Given the description of an element on the screen output the (x, y) to click on. 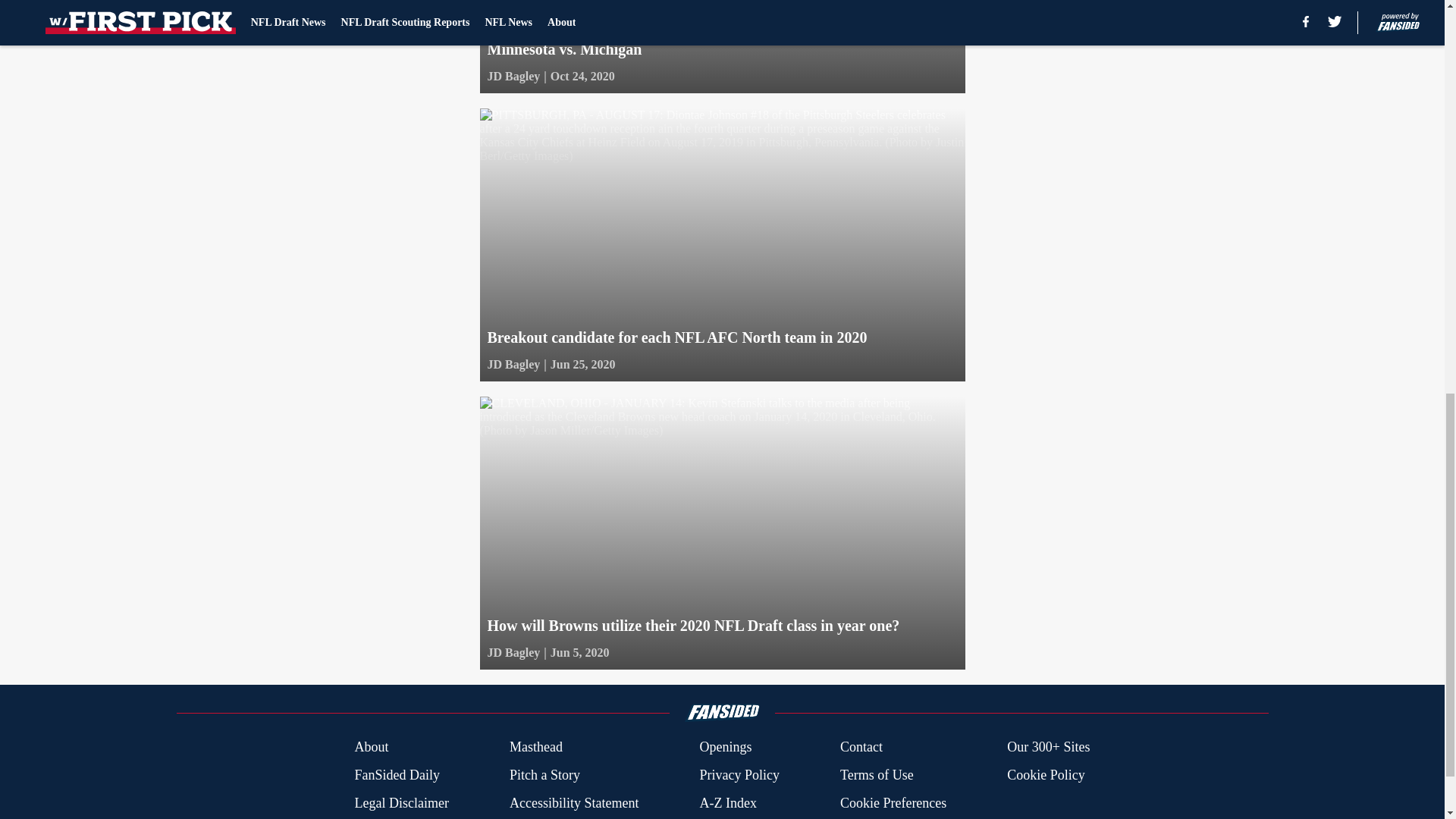
Breakout candidate for each NFL AFC North team in 2020 (721, 244)
JD Bagley (513, 652)
JD Bagley (513, 364)
JD Bagley (513, 76)
Contact (861, 747)
Legal Disclaimer (400, 803)
FanSided Daily (396, 774)
Cookie Policy (1045, 774)
Openings (724, 747)
Pitch a Story (544, 774)
Cookie Preferences (893, 803)
Accessibility Statement (574, 803)
Privacy Policy (738, 774)
